Given the description of an element on the screen output the (x, y) to click on. 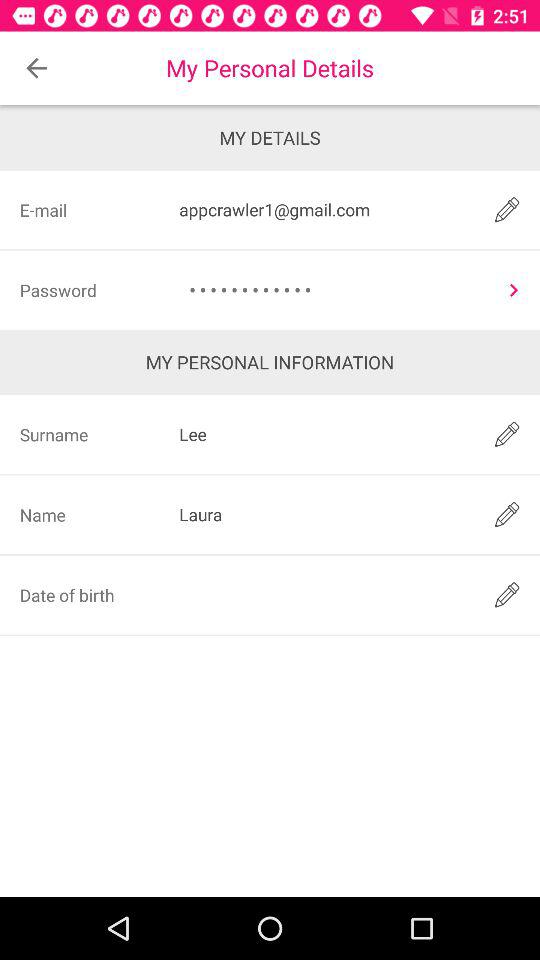
edit email (506, 209)
